Given the description of an element on the screen output the (x, y) to click on. 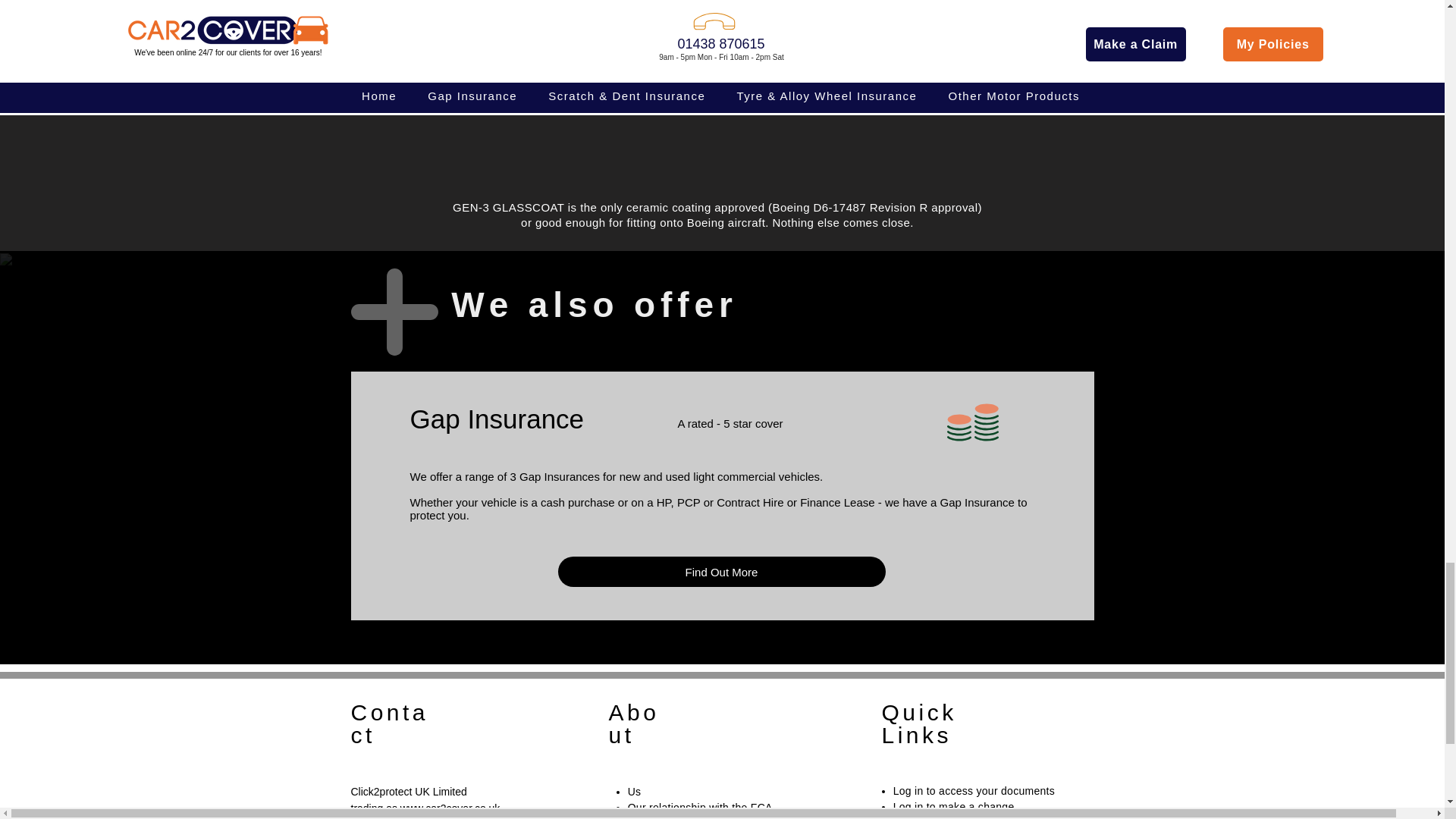
Make a claim (925, 817)
www.car2cover.co.uk (448, 808)
Log in to make a change (953, 806)
Log in to access your documents (973, 790)
Find Out More (721, 571)
Us (634, 791)
Our relationship with the FCA (700, 807)
